Given the description of an element on the screen output the (x, y) to click on. 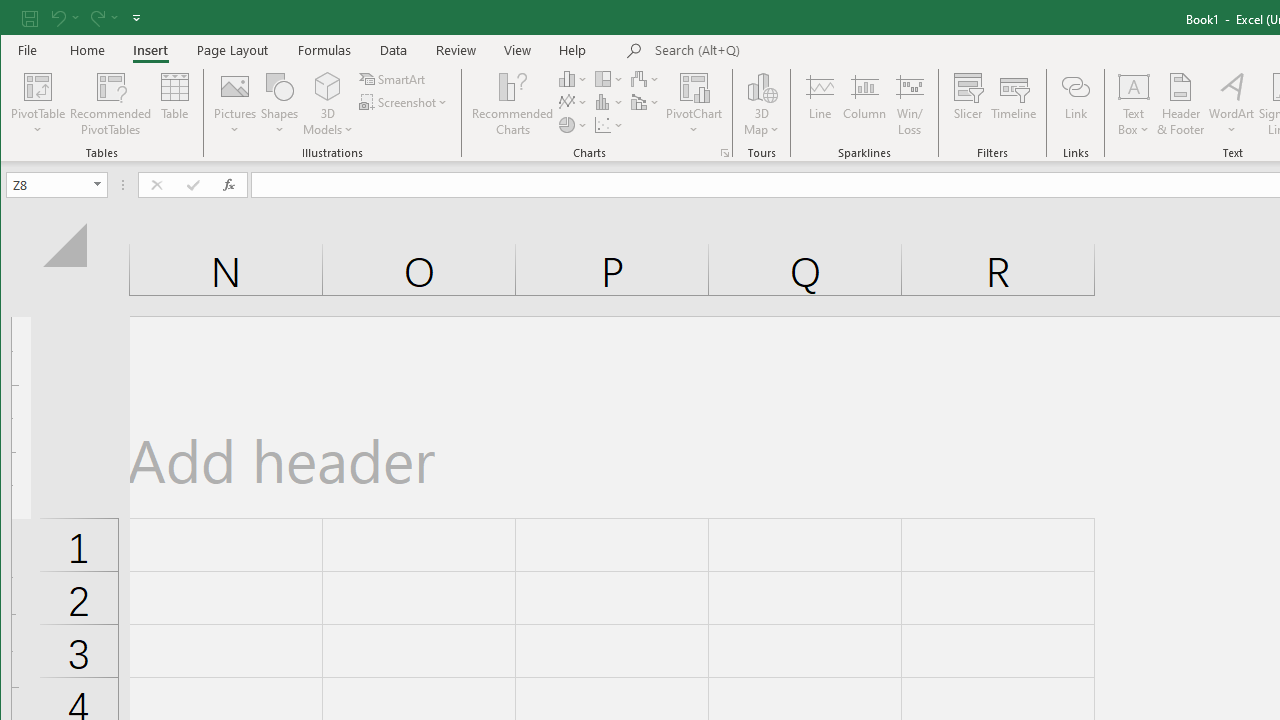
Insert Scatter (X, Y) or Bubble Chart (609, 124)
Insert Pie or Doughnut Chart (573, 124)
3D Models (327, 104)
Recommended PivotTables (110, 104)
PivotTable (37, 86)
